Given the description of an element on the screen output the (x, y) to click on. 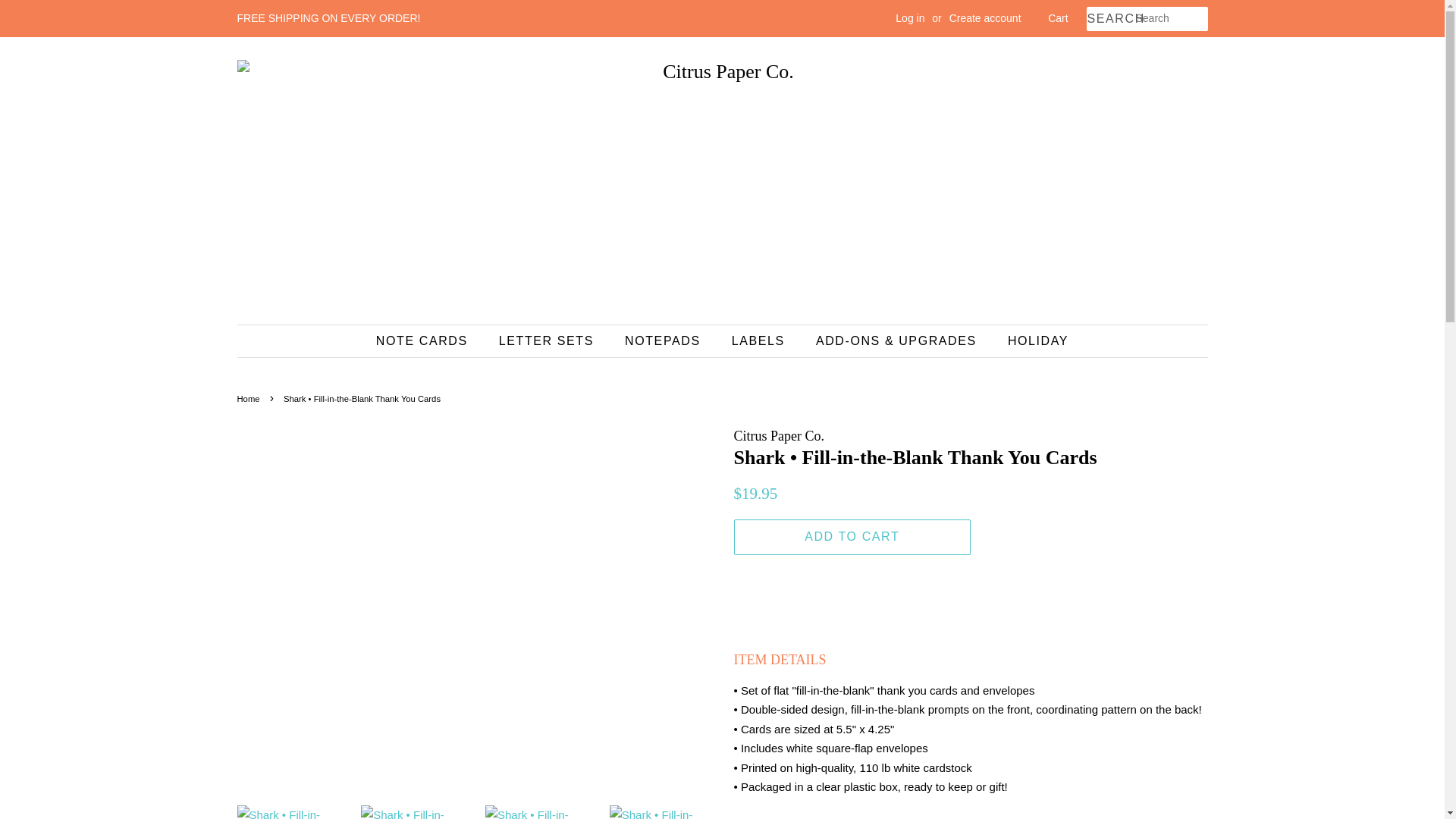
Back to the frontpage (249, 398)
Create account (985, 18)
SEARCH (1110, 18)
Log in (909, 18)
Cart (1057, 18)
